Given the description of an element on the screen output the (x, y) to click on. 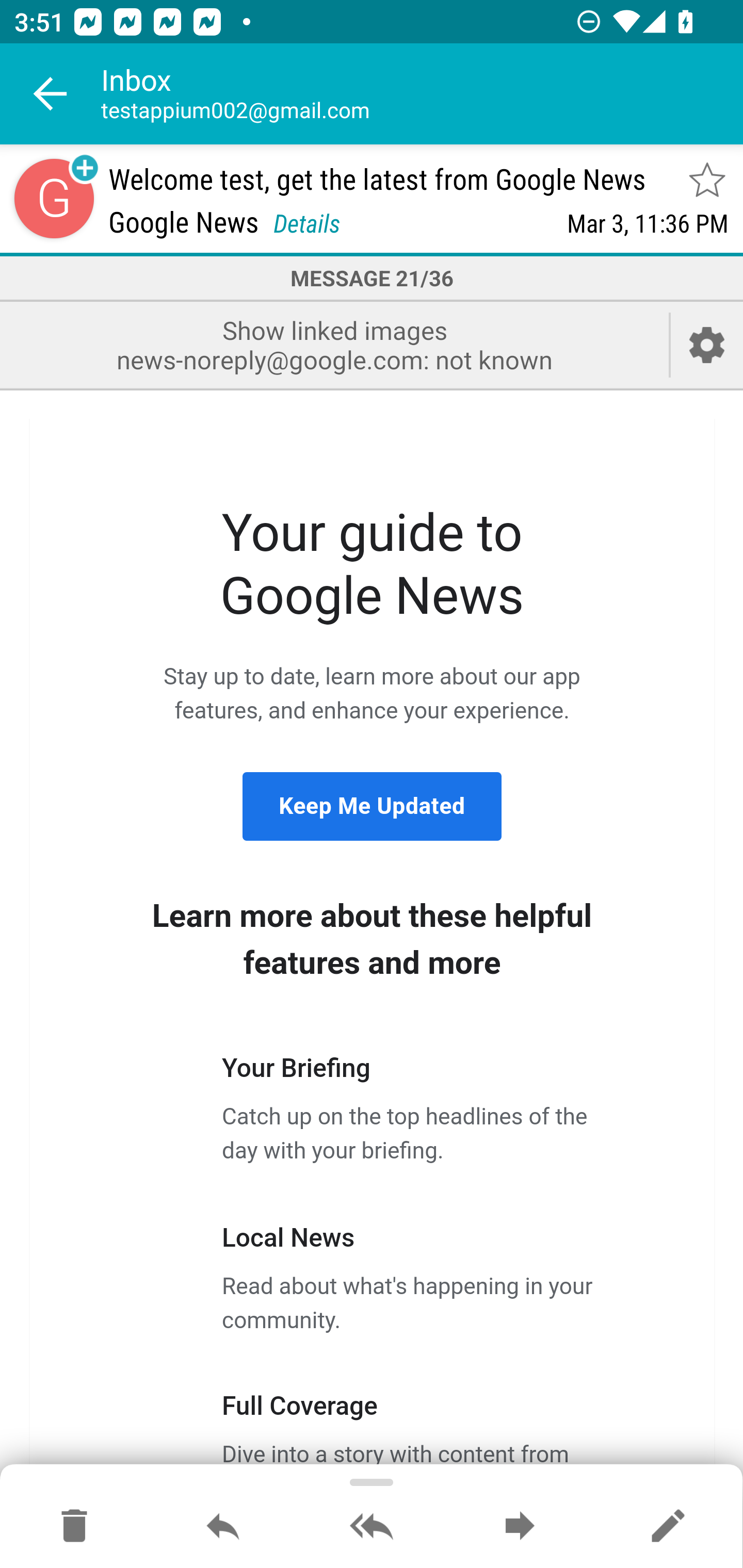
Navigate up (50, 93)
Inbox testappium002@gmail.com (422, 93)
Sender contact button (53, 198)
Account setup (706, 344)
Keep Me Updated (372, 805)
Move to Deleted (74, 1527)
Reply (222, 1527)
Reply all (371, 1527)
Forward (519, 1527)
Reply as new (667, 1527)
